Given the description of an element on the screen output the (x, y) to click on. 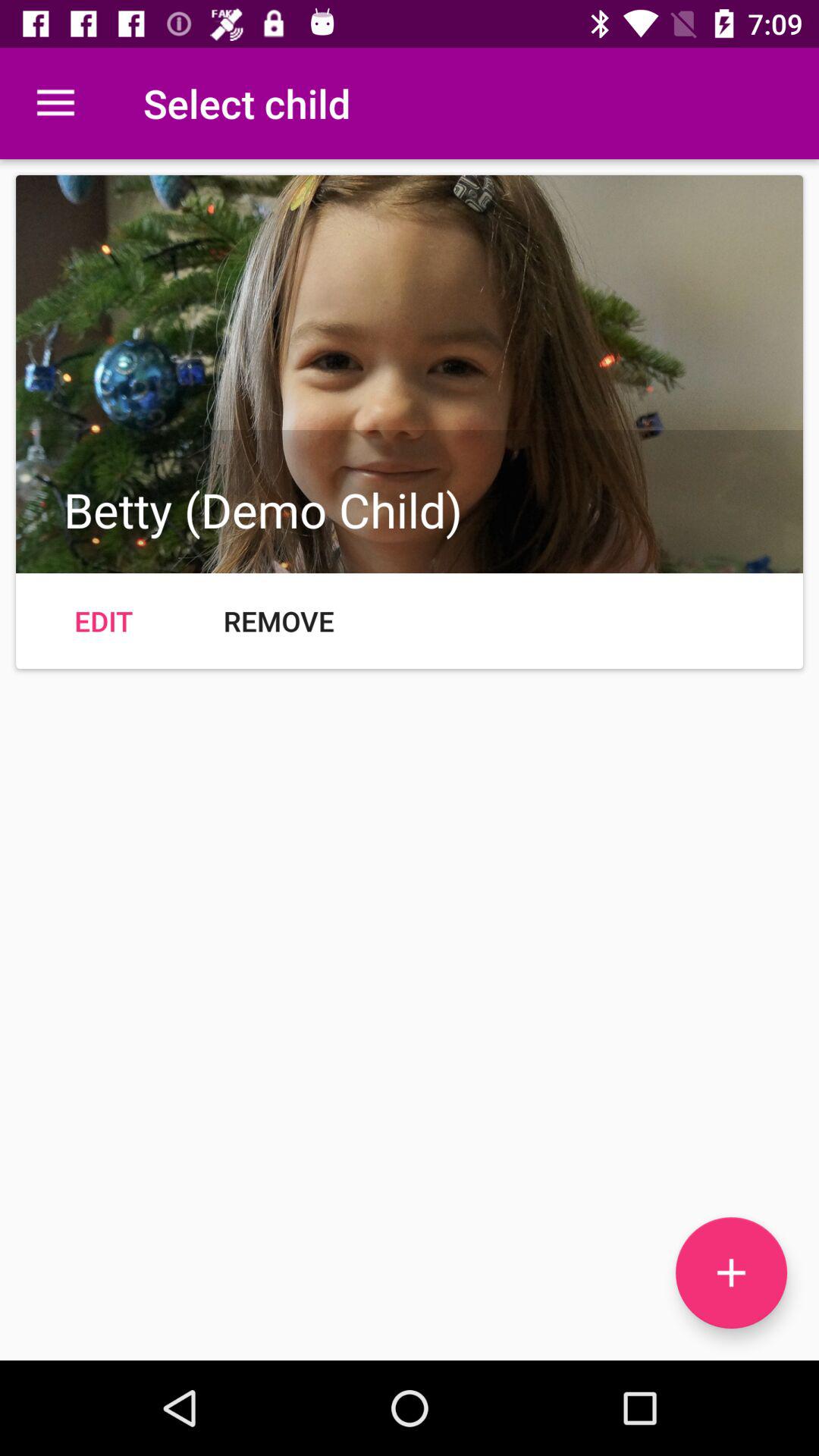
add new (731, 1272)
